Given the description of an element on the screen output the (x, y) to click on. 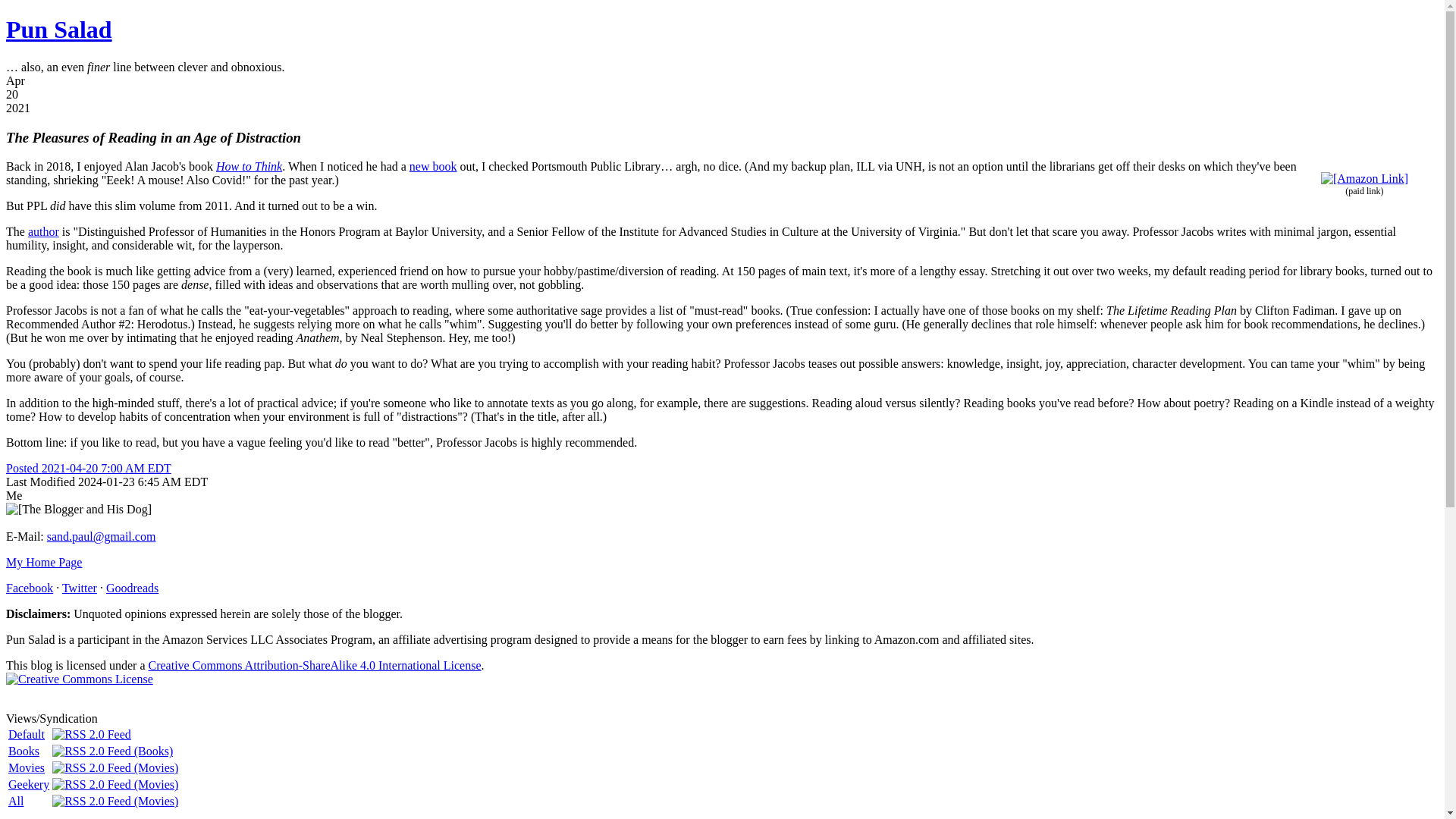
Movies (26, 767)
Twitter (79, 587)
All (15, 800)
Books (23, 750)
Default (26, 734)
Goodreads (132, 587)
author (43, 231)
My Home Page (43, 562)
Geekery (28, 784)
